Given the description of an element on the screen output the (x, y) to click on. 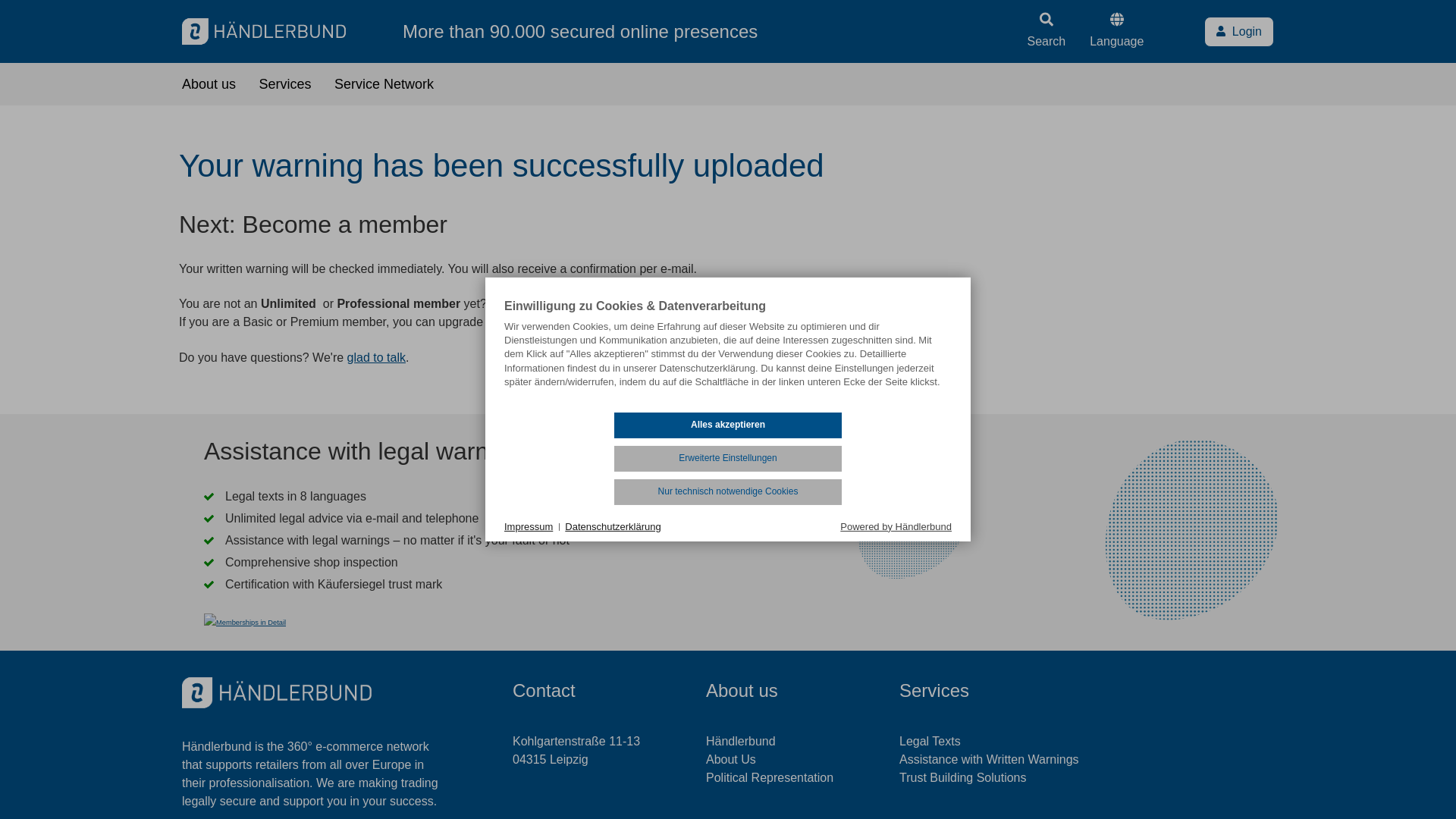
Service Network (383, 83)
Services (285, 83)
Login (1239, 31)
Search (1046, 29)
About us (208, 83)
